Given the description of an element on the screen output the (x, y) to click on. 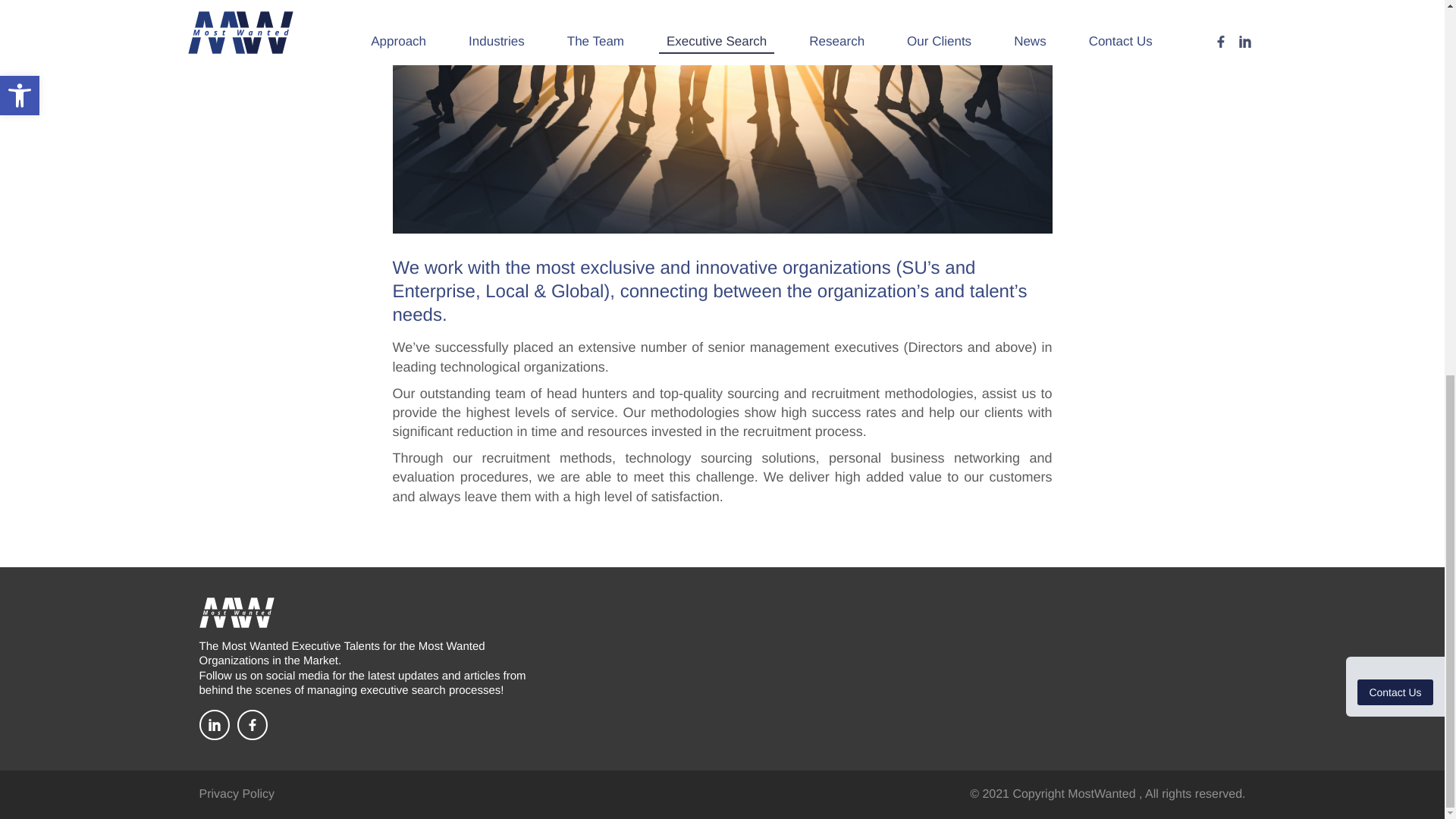
MostWanted on LinkedIn (213, 725)
Visit MostWanted on LinkedIn (213, 725)
Contact Us (1394, 7)
Visit MostWanted on Facebook (250, 725)
MostWanted on Facebook (250, 725)
